Given the description of an element on the screen output the (x, y) to click on. 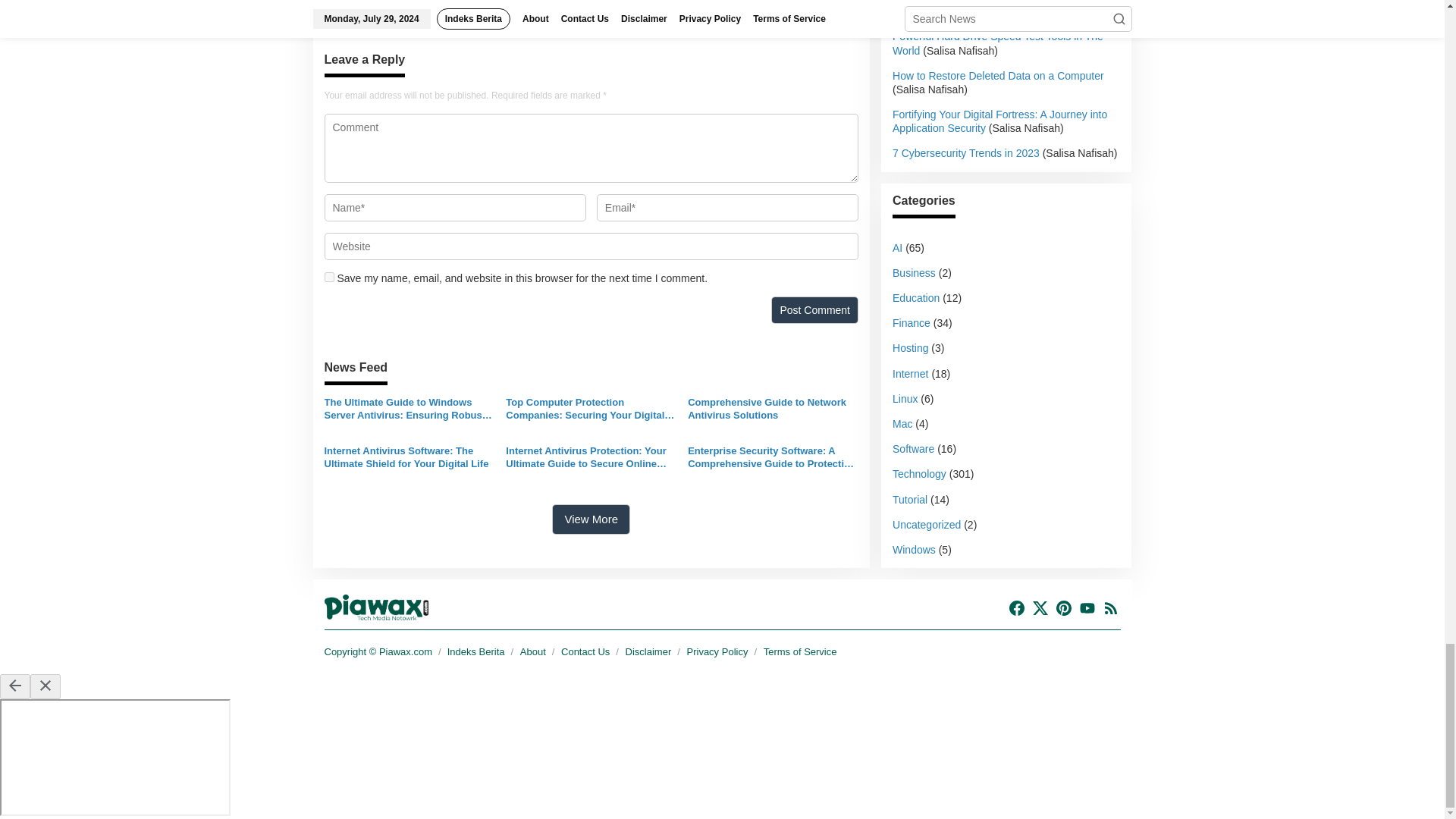
yes (329, 276)
Post Comment (815, 309)
